Given the description of an element on the screen output the (x, y) to click on. 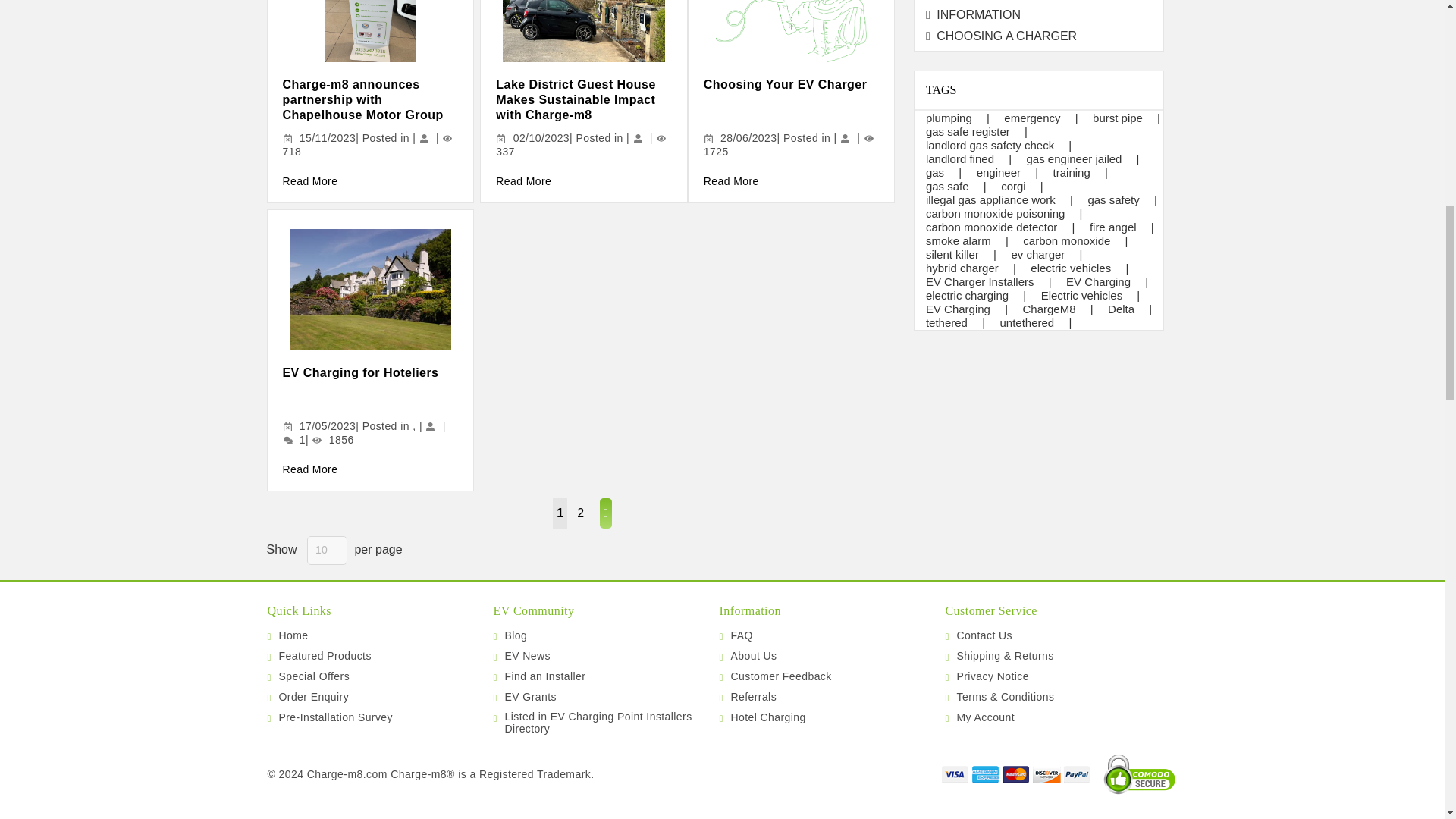
Read More (309, 181)
Charge-m8 announces partnership with Chapelhouse Motor Group (362, 99)
